Given the description of an element on the screen output the (x, y) to click on. 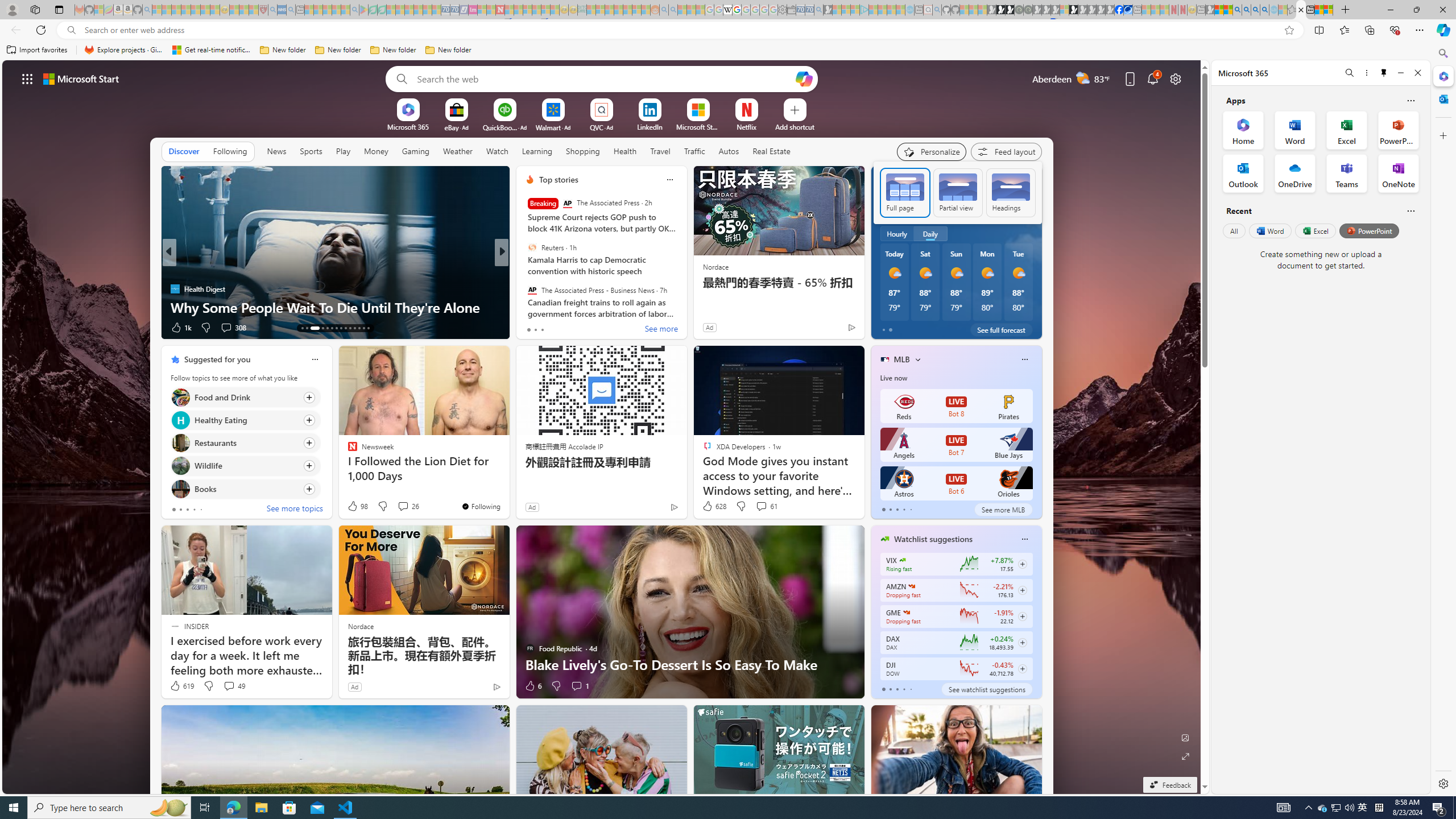
Restaurants (180, 443)
Body Network (524, 270)
Watchlist suggestions (932, 538)
AutomationID: tab-18 (331, 328)
How to restart your PC with just the keyboard (684, 307)
Terms of Use Agreement - Sleeping (372, 9)
Reds LIVE Bot 8 Pirates (955, 406)
